Given the description of an element on the screen output the (x, y) to click on. 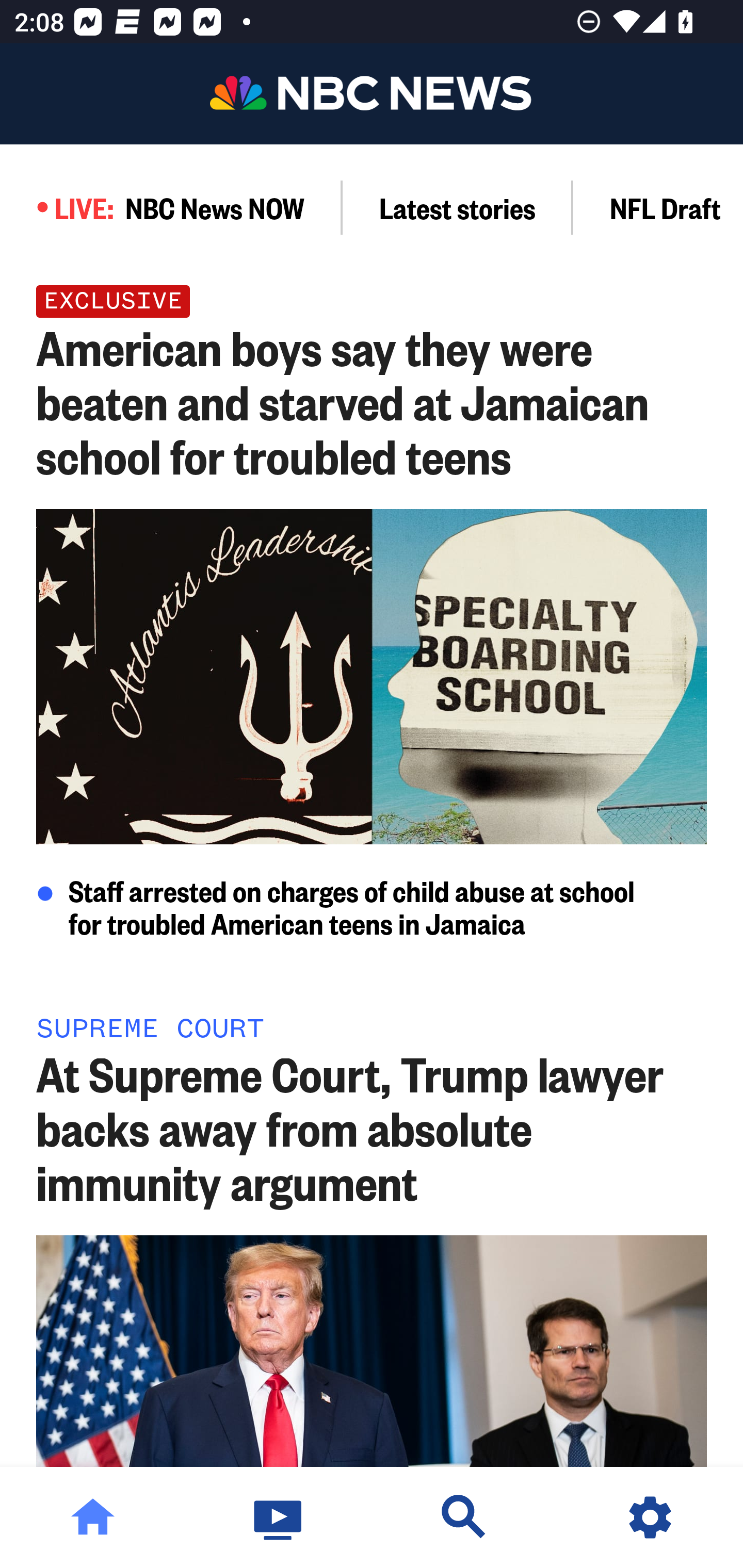
LIVE:  NBC News NOW (171, 207)
Latest stories Section,Latest stories (457, 207)
NFL Draft (658, 207)
Watch (278, 1517)
Discover (464, 1517)
Settings (650, 1517)
